Given the description of an element on the screen output the (x, y) to click on. 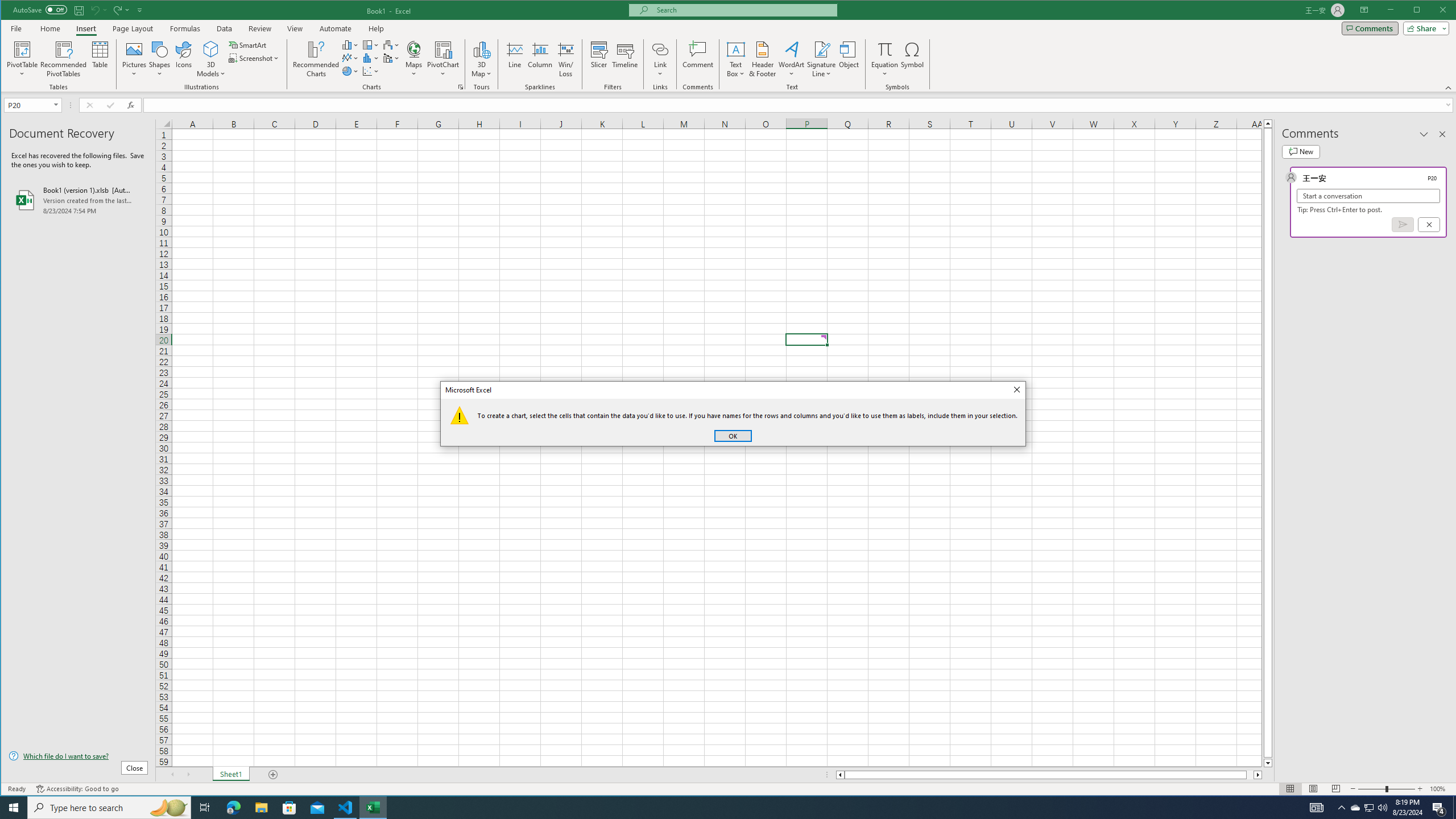
Task View (204, 807)
PivotTable (1355, 807)
AutomationID: 4105 (22, 59)
3D Models (1316, 807)
